Given the description of an element on the screen output the (x, y) to click on. 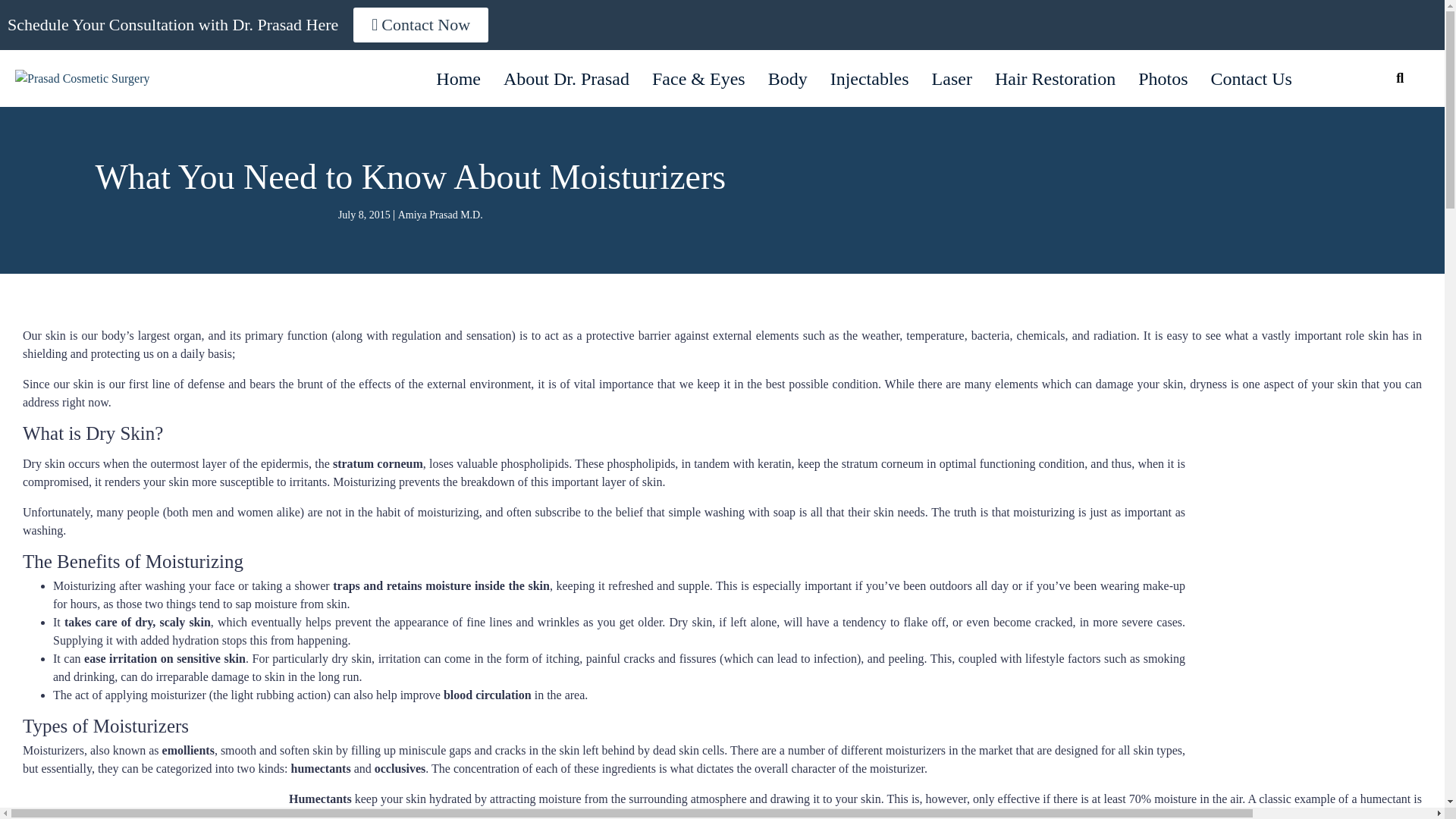
About Dr. Prasad (566, 78)
Home (458, 78)
